Given the description of an element on the screen output the (x, y) to click on. 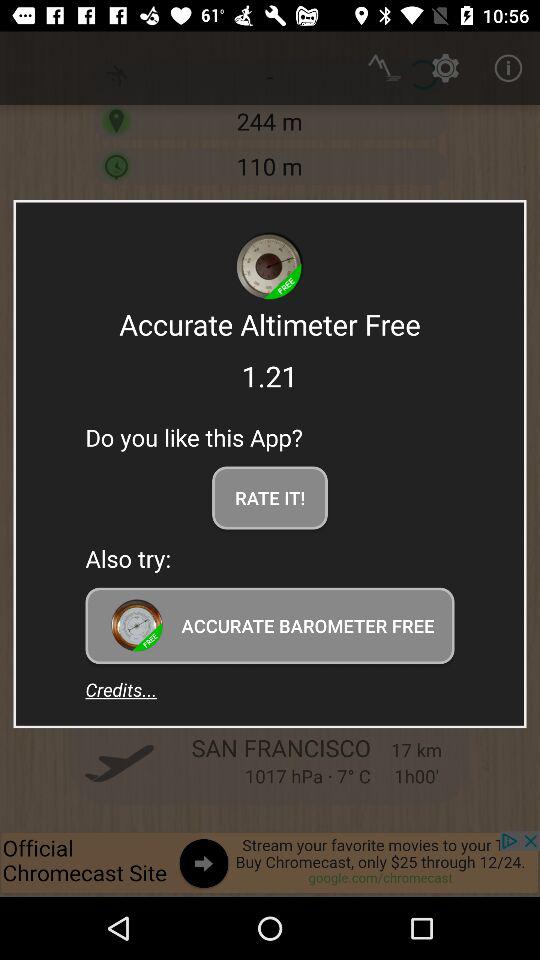
tap the item above accurate barometer free (269, 497)
